Given the description of an element on the screen output the (x, y) to click on. 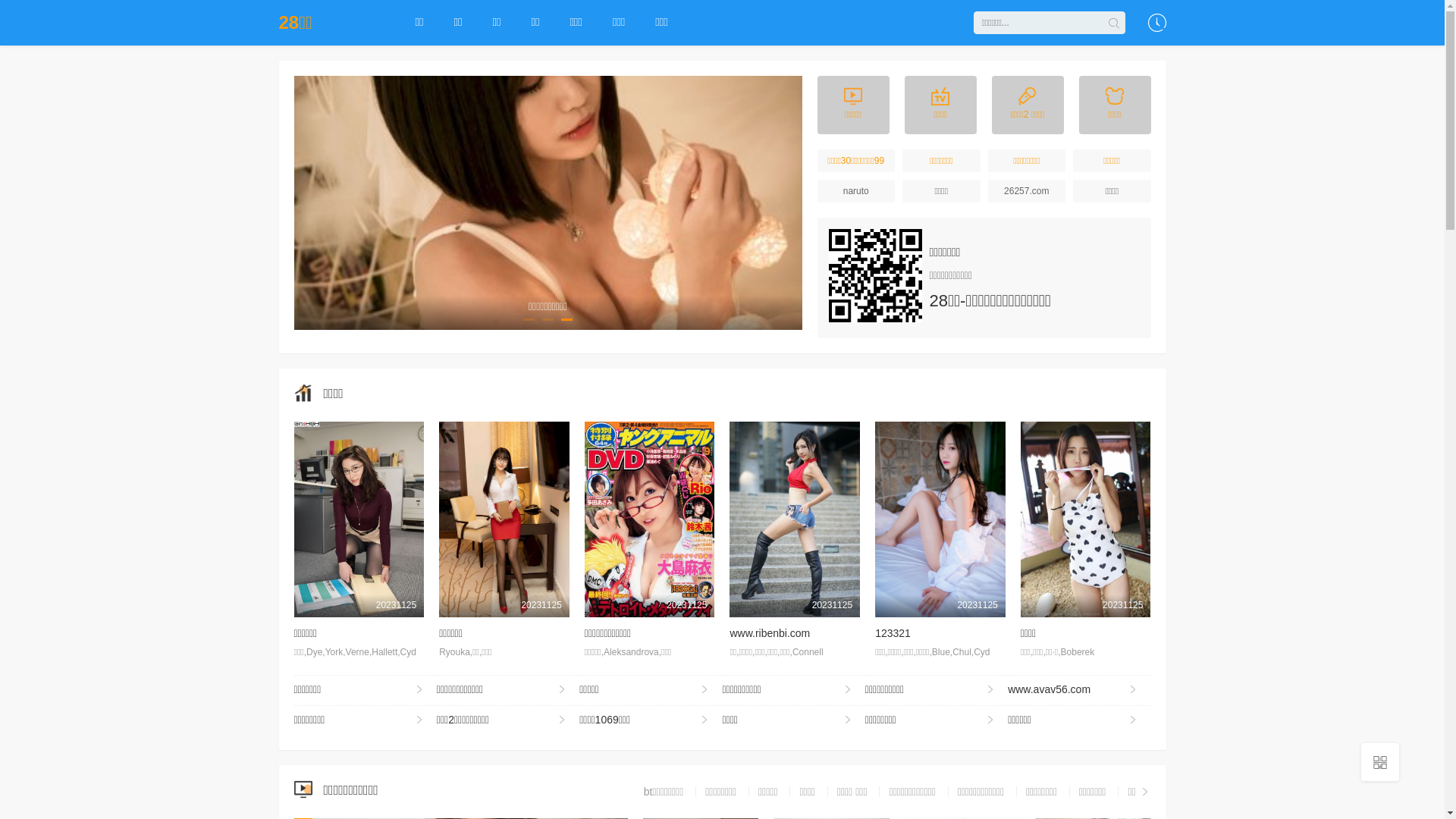
naruto Element type: text (856, 190)
20231125 Element type: text (940, 518)
20231125 Element type: text (1085, 518)
20231125 Element type: text (359, 518)
20231125 Element type: text (794, 518)
26257.com Element type: text (1026, 190)
20231125 Element type: text (649, 518)
http://28kbw.com/ Element type: hover (874, 275)
123321 Element type: text (892, 633)
www.ribenbi.com Element type: text (769, 633)
20231125 Element type: text (504, 518)
www.avav56.com Element type: text (1078, 689)
